Given the description of an element on the screen output the (x, y) to click on. 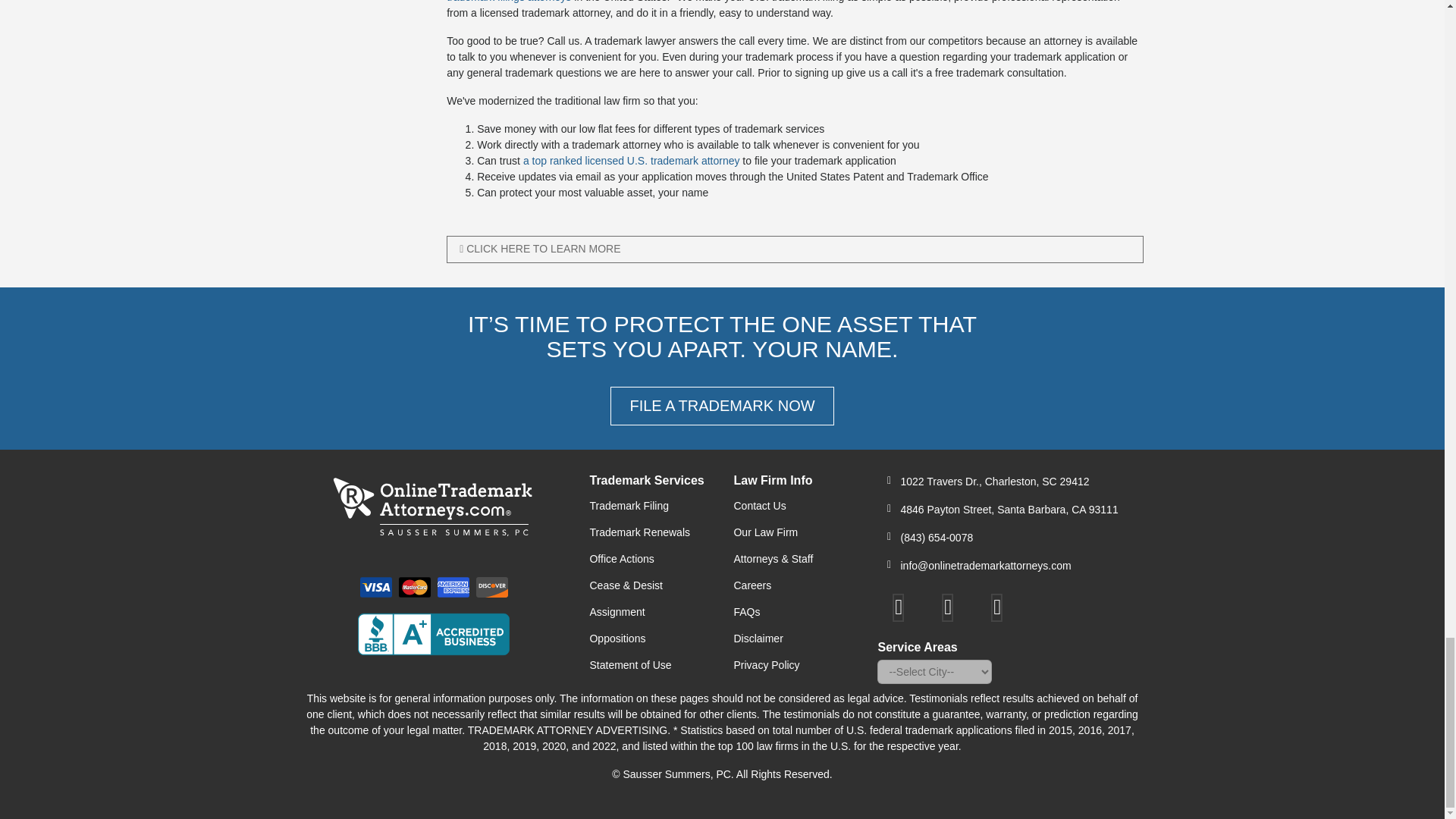
Slice 1 (453, 587)
Trademark Renewals (649, 532)
Slice 1 (375, 587)
Trademark Filing (649, 506)
Slice 1 (414, 587)
Office Actions (649, 559)
